Given the description of an element on the screen output the (x, y) to click on. 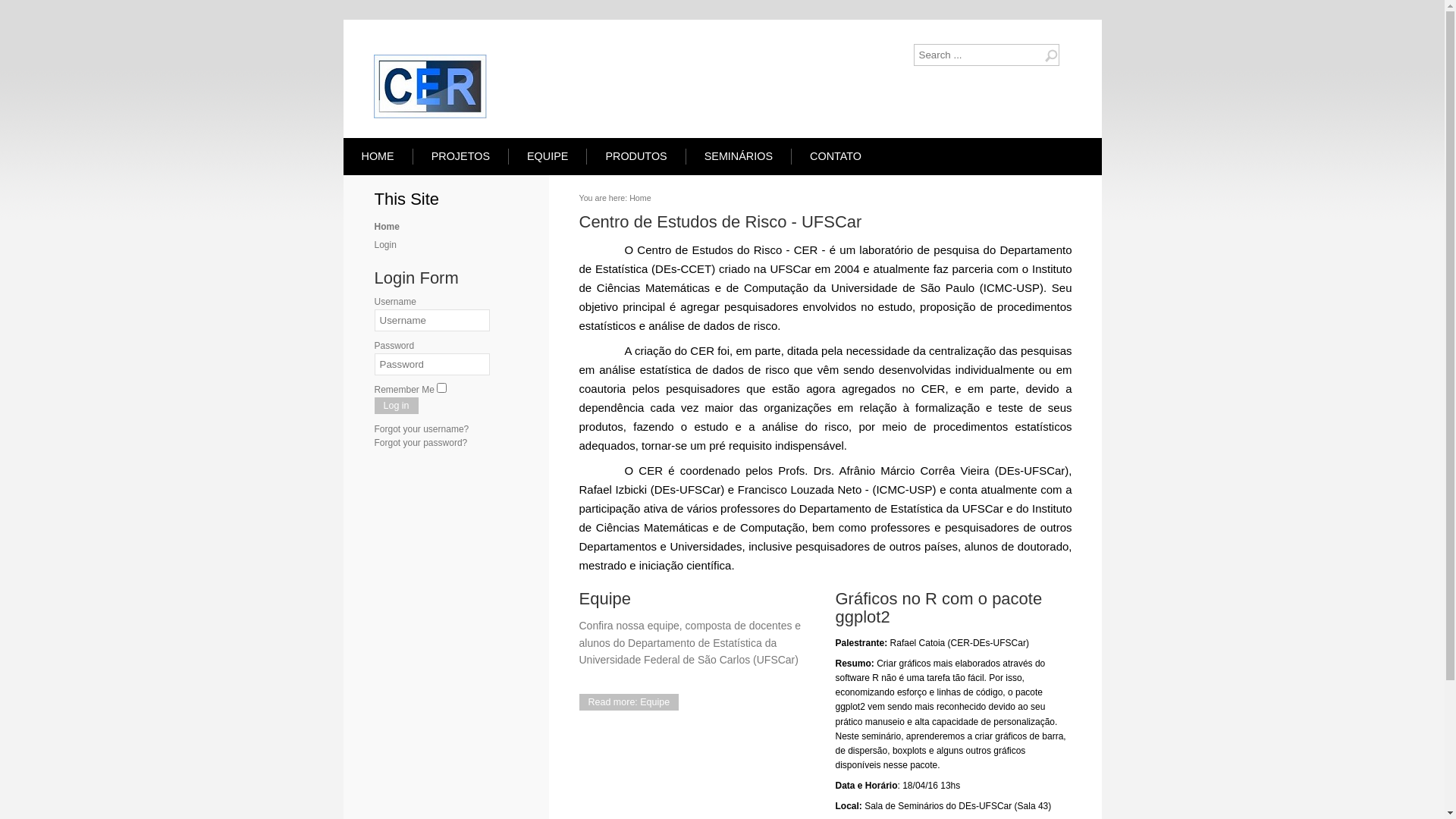
Equipe Element type: text (605, 598)
PROJETOS Element type: text (460, 155)
EQUIPE Element type: text (547, 155)
Home Element type: text (386, 226)
CONTATO Element type: text (835, 155)
Read more: Equipe Element type: text (629, 701)
Login Element type: text (385, 244)
Log in Element type: text (396, 405)
Forgot your password? Element type: text (420, 442)
Centro de Estudos de Risco - UFSCar Element type: text (720, 221)
PRODUTOS Element type: text (635, 155)
Forgot your username? Element type: text (421, 428)
HOME Element type: text (377, 155)
